Given the description of an element on the screen output the (x, y) to click on. 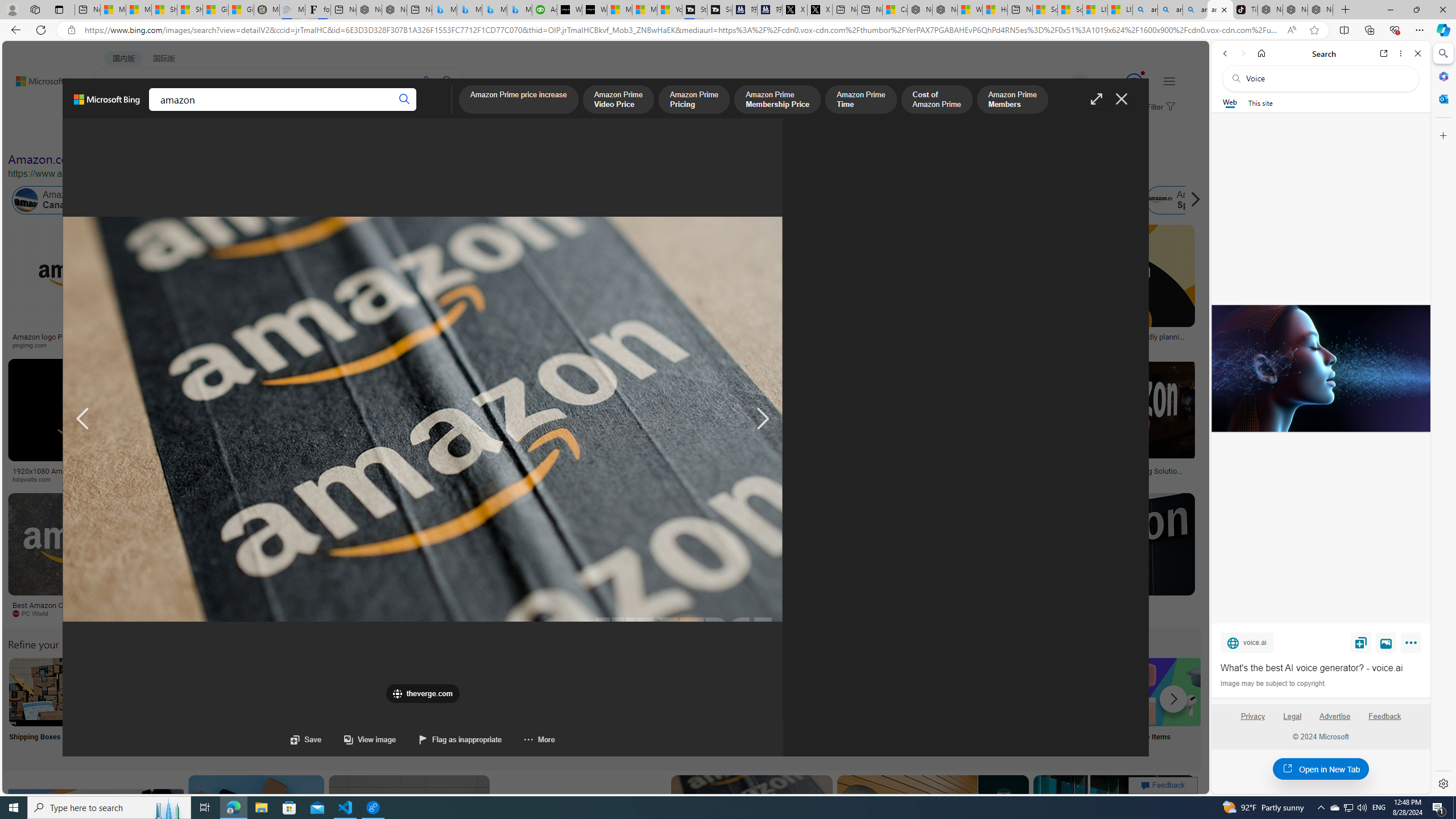
Flag as inappropriate (449, 739)
Shipping Boxes (42, 706)
X (819, 9)
GOBankingRates (225, 479)
Scroll more suggestions right (1173, 698)
Amazon Visa Card Login (1093, 691)
Wish List (568, 706)
Long Island Press (628, 479)
More (528, 739)
Full screen (1096, 99)
Type (212, 135)
Amazon Online Shopping Homepage (868, 691)
